Given the description of an element on the screen output the (x, y) to click on. 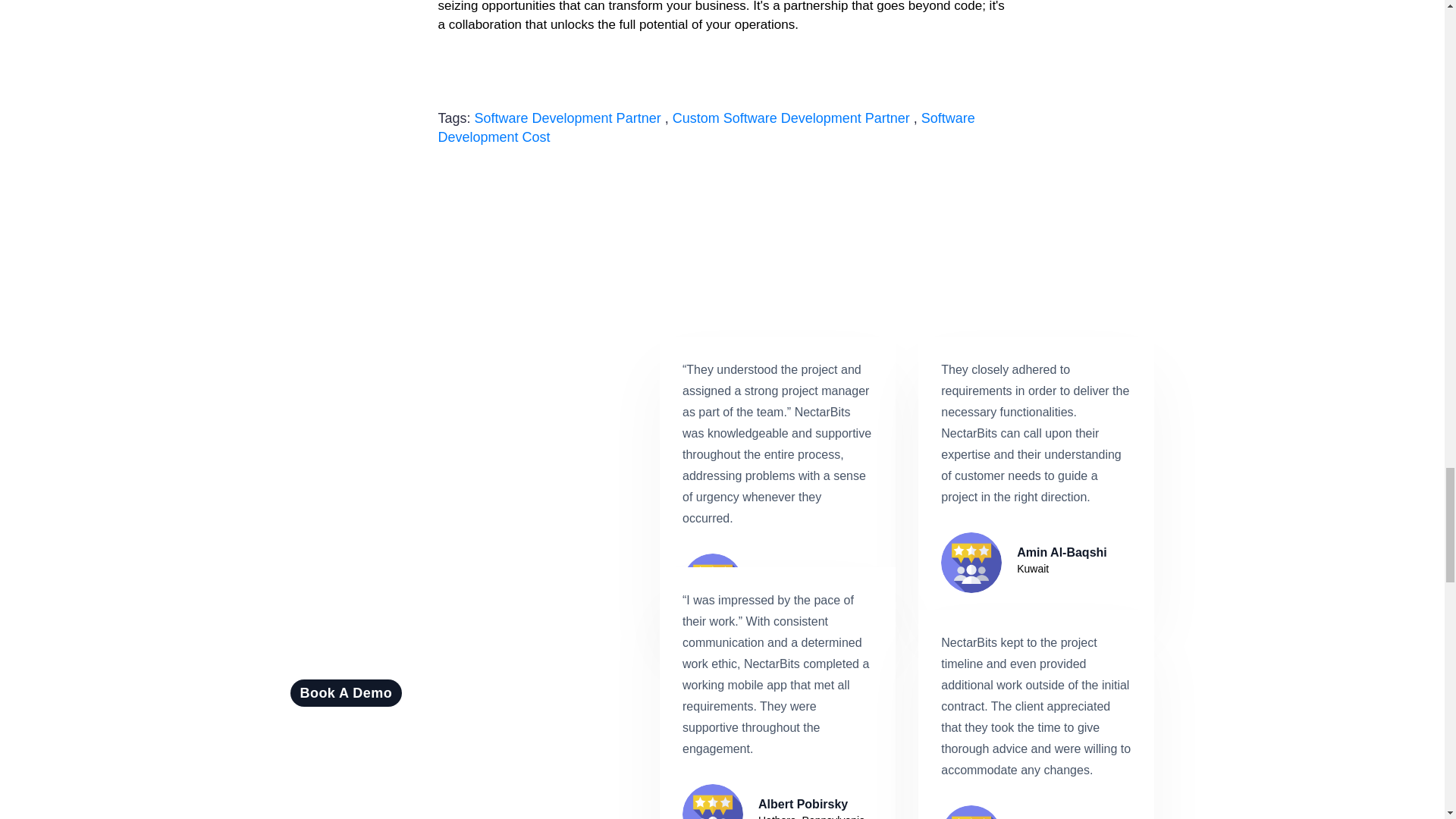
Software Development Cost (706, 127)
Software Development Partner (567, 118)
Book A Demo (345, 692)
Custom Software Development Partner (791, 118)
